Given the description of an element on the screen output the (x, y) to click on. 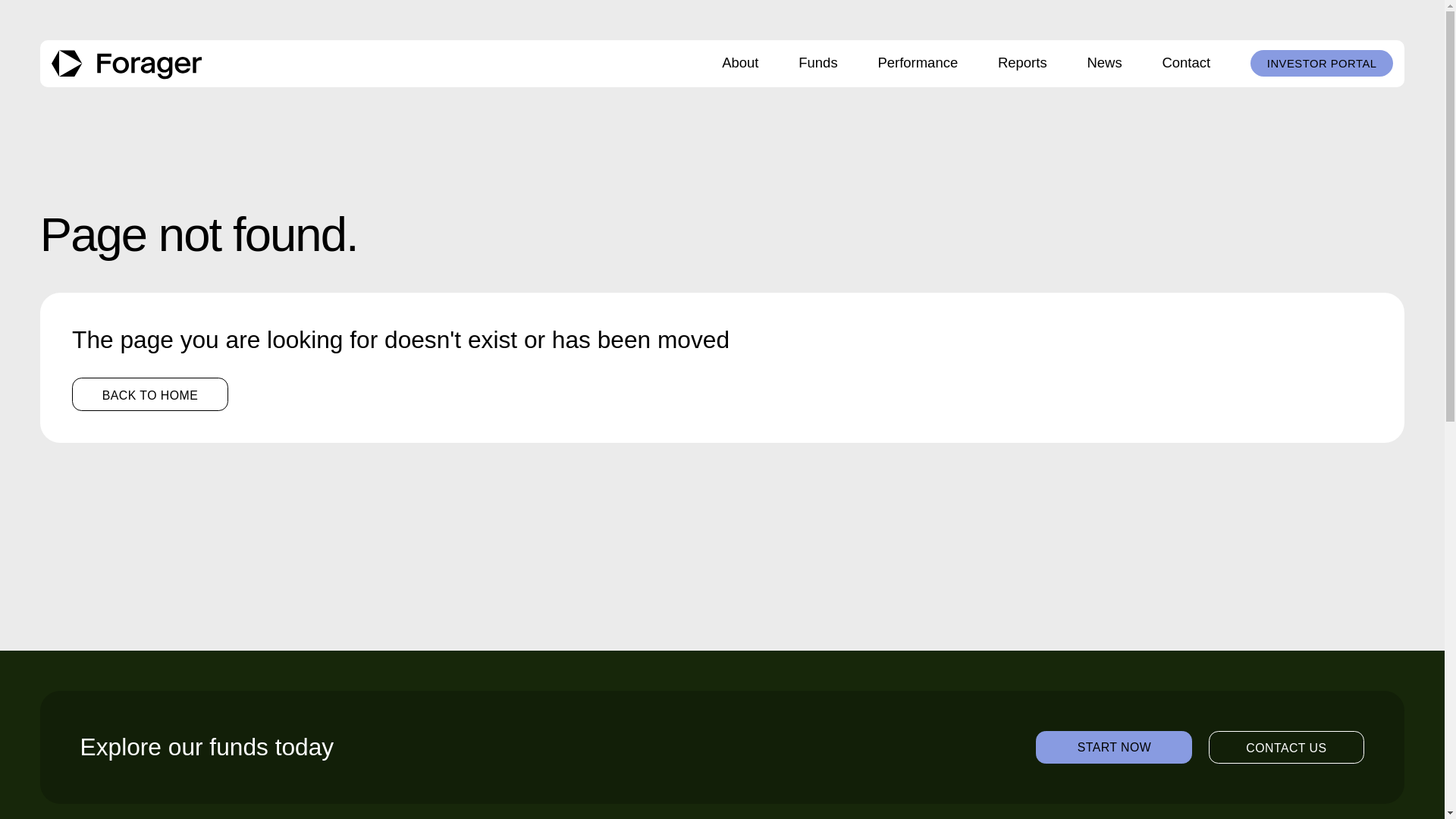
START NOW (1113, 747)
CONTACT US (817, 64)
INVESTOR PORTAL (740, 64)
BACK TO HOME (1286, 747)
